Given the description of an element on the screen output the (x, y) to click on. 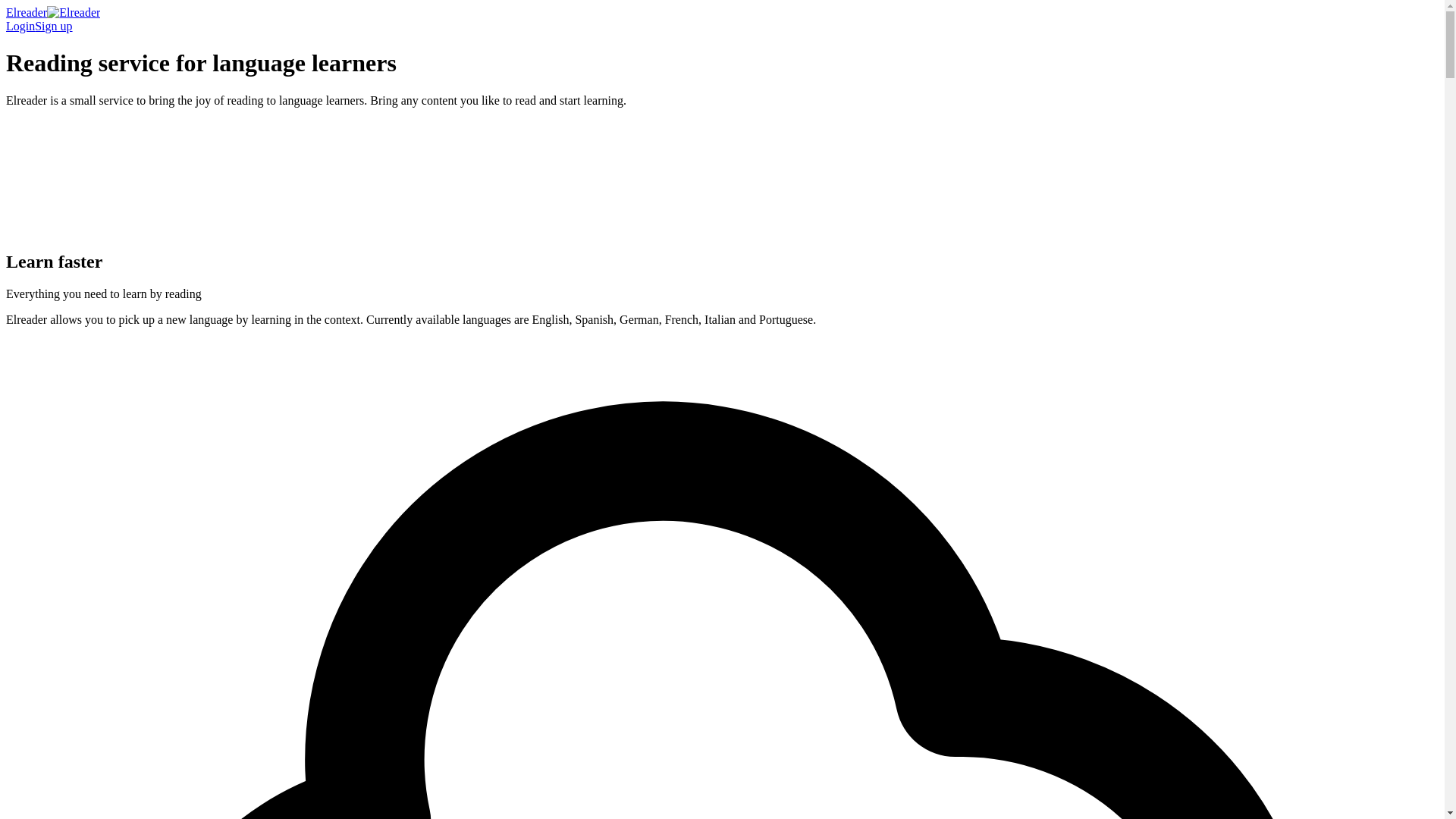
Sign up (52, 25)
Login (19, 25)
Elreader (52, 11)
